Given the description of an element on the screen output the (x, y) to click on. 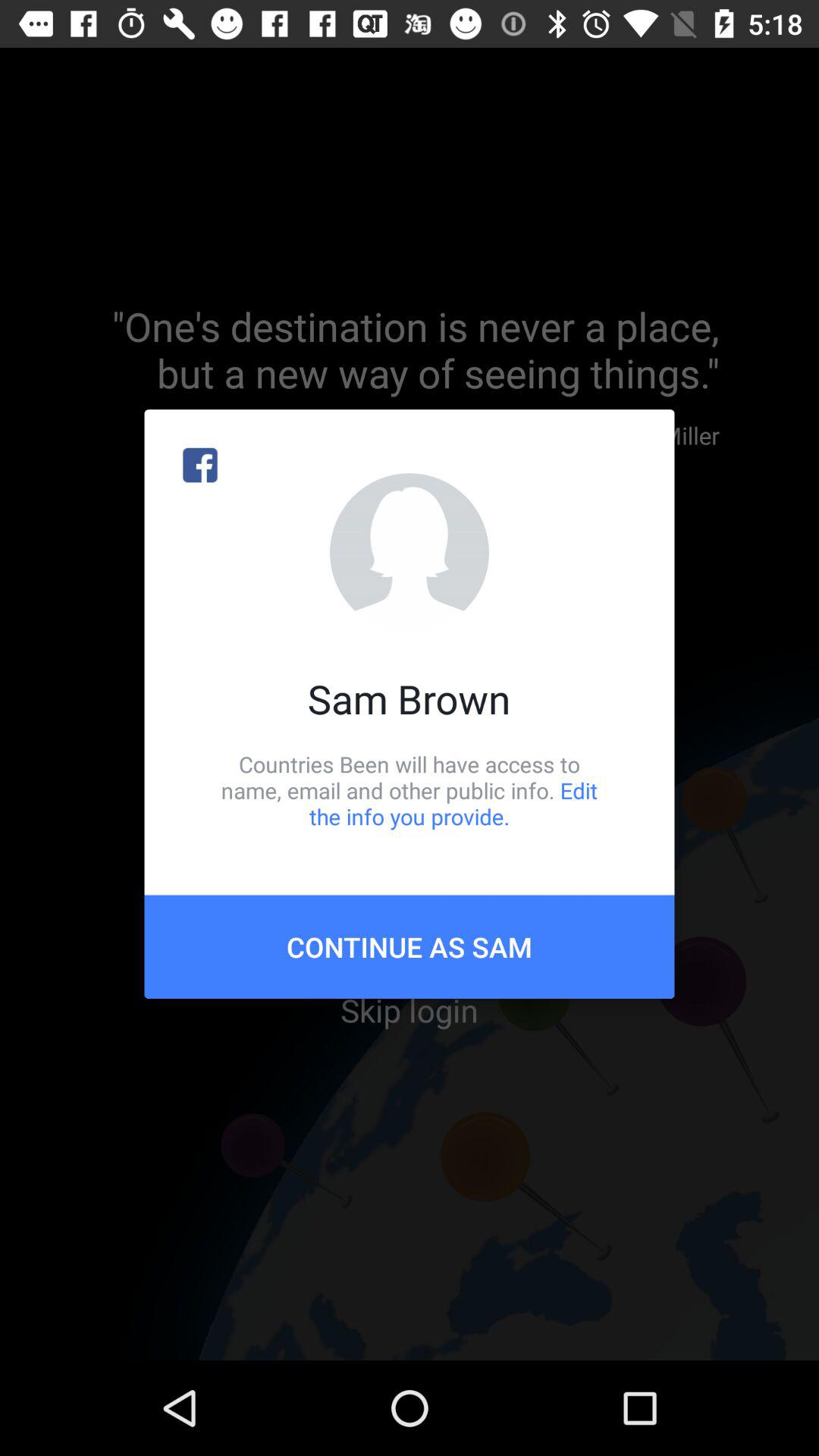
press icon above continue as sam item (409, 790)
